Given the description of an element on the screen output the (x, y) to click on. 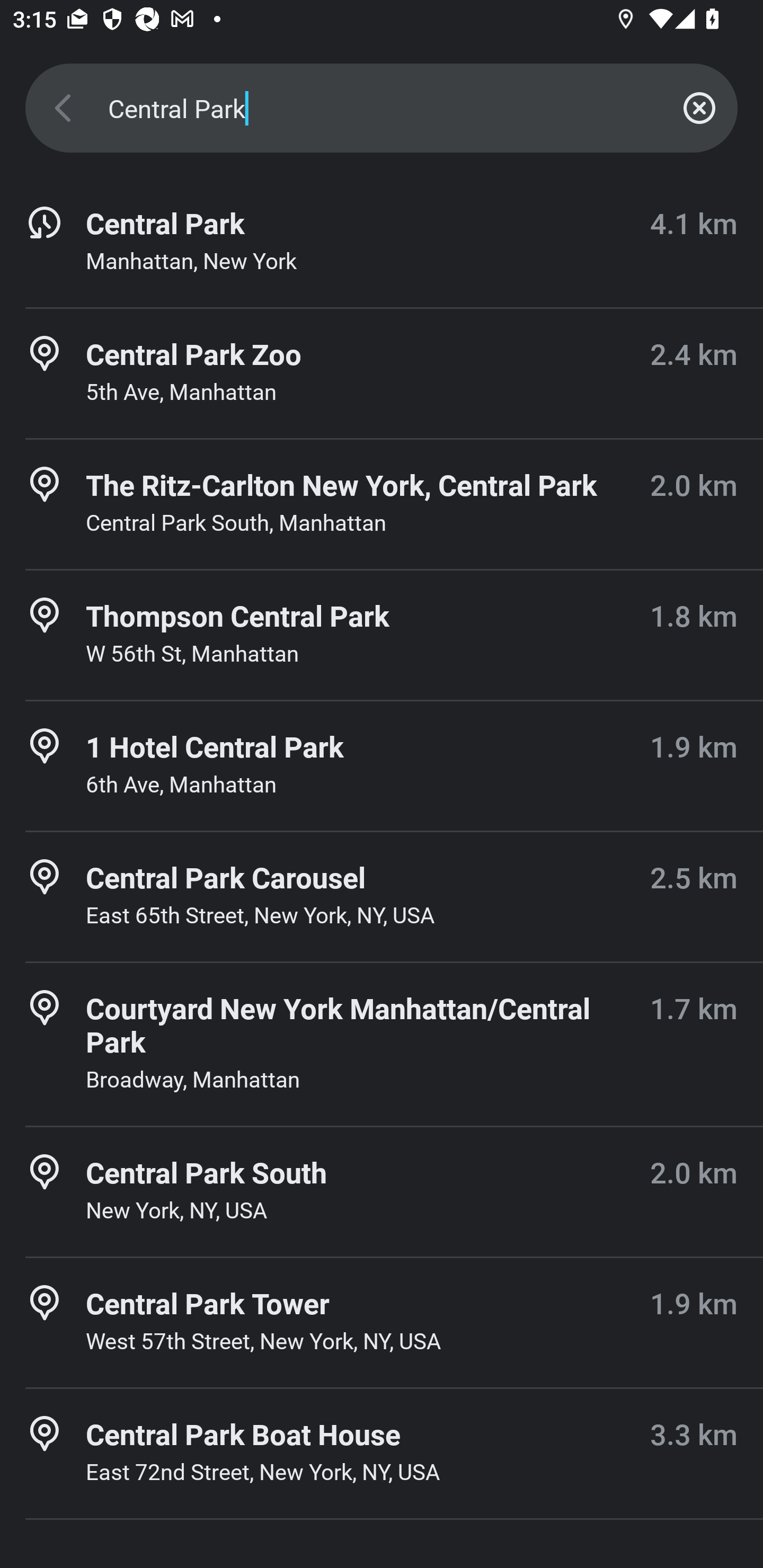
Central Park SEARCH_SCREEN_SEARCH_FIELD (381, 108)
Central Park 4.1 km Manhattan, New York (381, 242)
Central Park Zoo 2.4 km 5th Ave, Manhattan (381, 372)
Thompson Central Park 1.8 km W 56th St, Manhattan (381, 634)
1 Hotel Central Park 1.9 km 6th Ave, Manhattan (381, 765)
Central Park South 2.0 km New York, NY, USA (381, 1191)
